Given the description of an element on the screen output the (x, y) to click on. 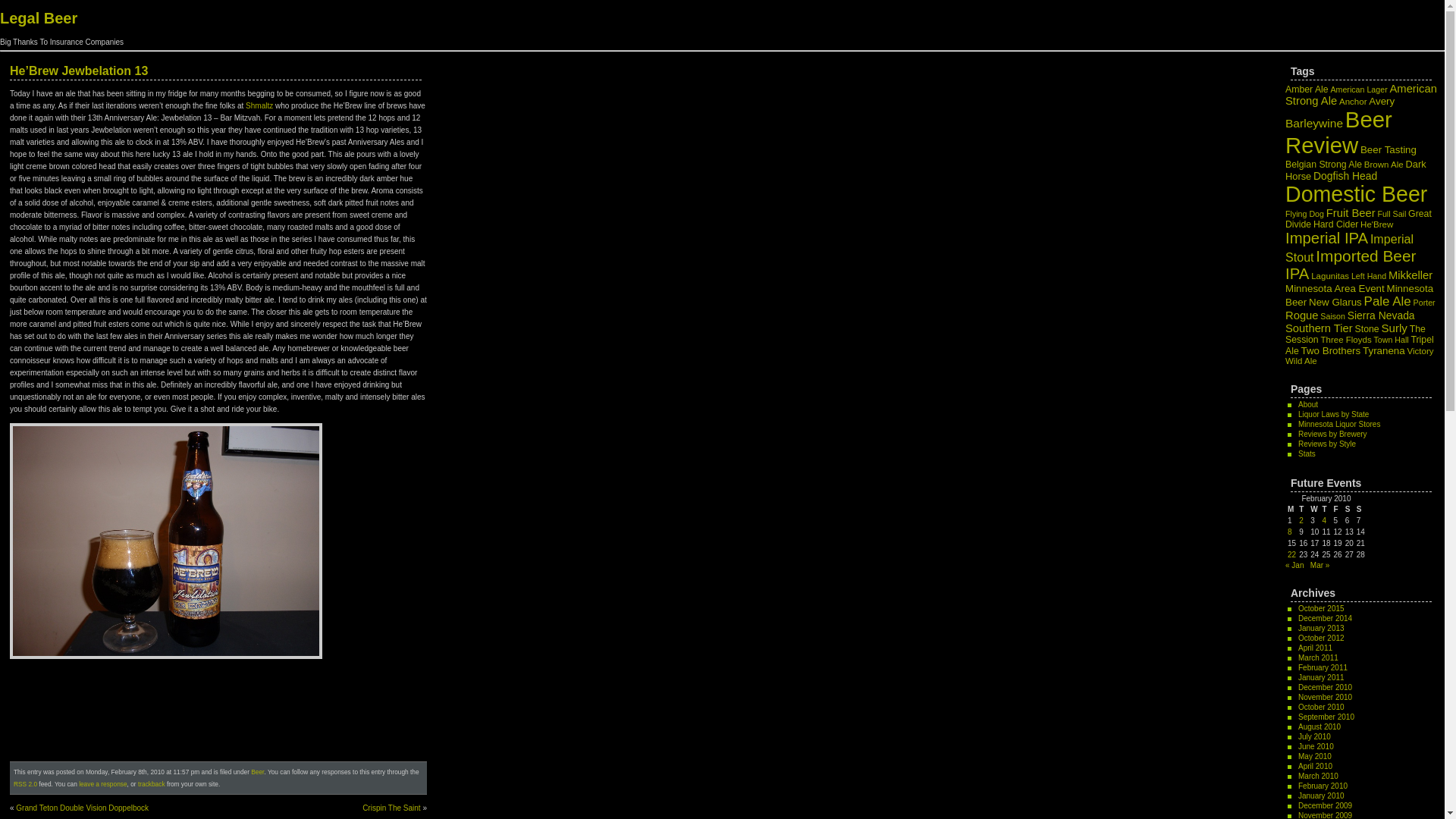
American Strong Ale (1361, 94)
Flying Dog (1304, 213)
American Lager (1358, 89)
Beer Review (1338, 132)
Thursday (1325, 509)
Anchor (1353, 101)
Full Sail (1391, 213)
Mikkeller (1410, 275)
Beer Tasting (1387, 149)
Dogfish Head (1345, 175)
